Given the description of an element on the screen output the (x, y) to click on. 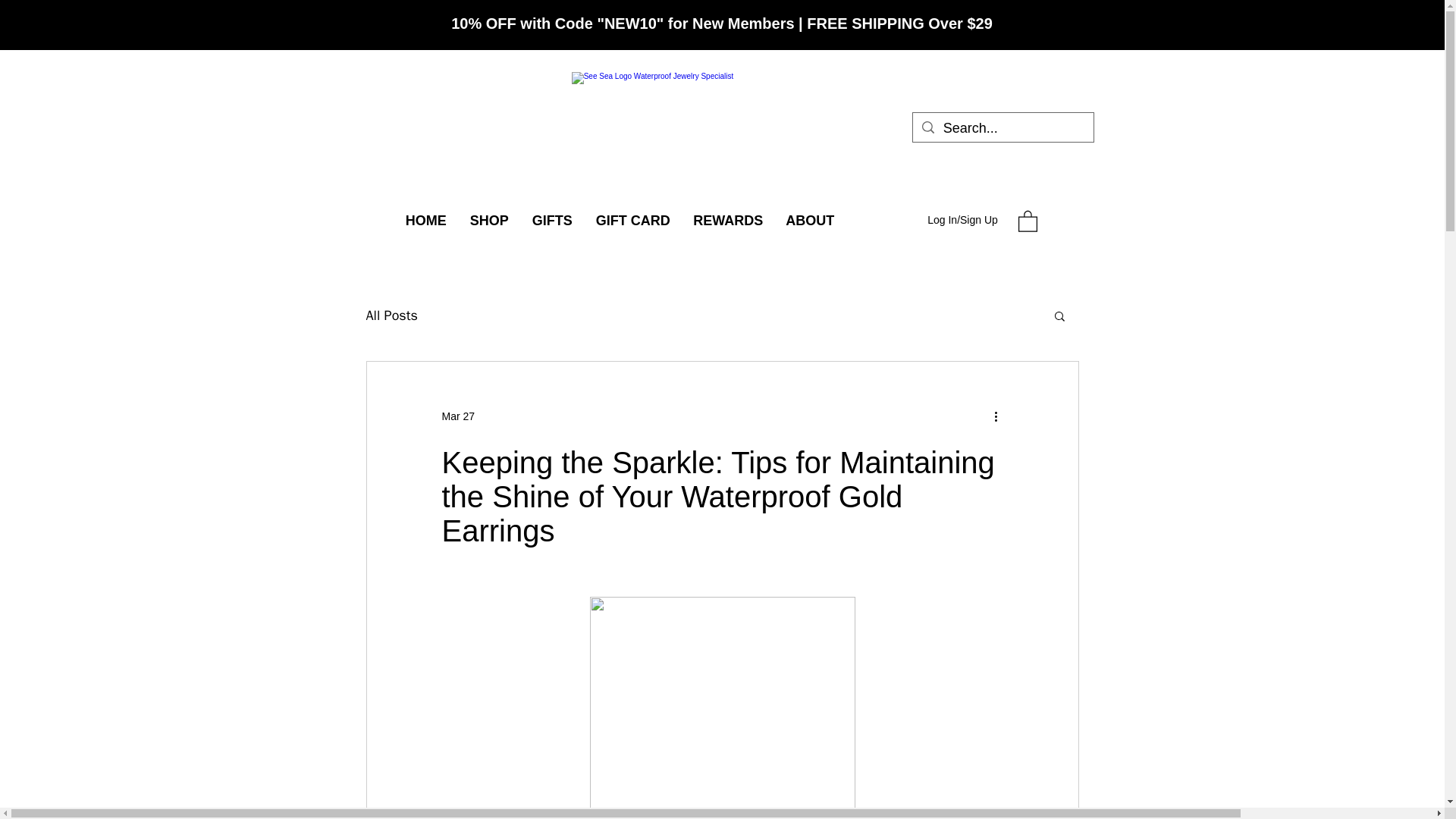
GIFTS (551, 220)
REWARDS (727, 220)
ABOUT (809, 220)
All Posts (390, 315)
GIFT CARD (632, 220)
HOME (425, 220)
Waterproof Jewelry Specialist (726, 114)
SHOP (488, 220)
Mar 27 (457, 415)
